Given the description of an element on the screen output the (x, y) to click on. 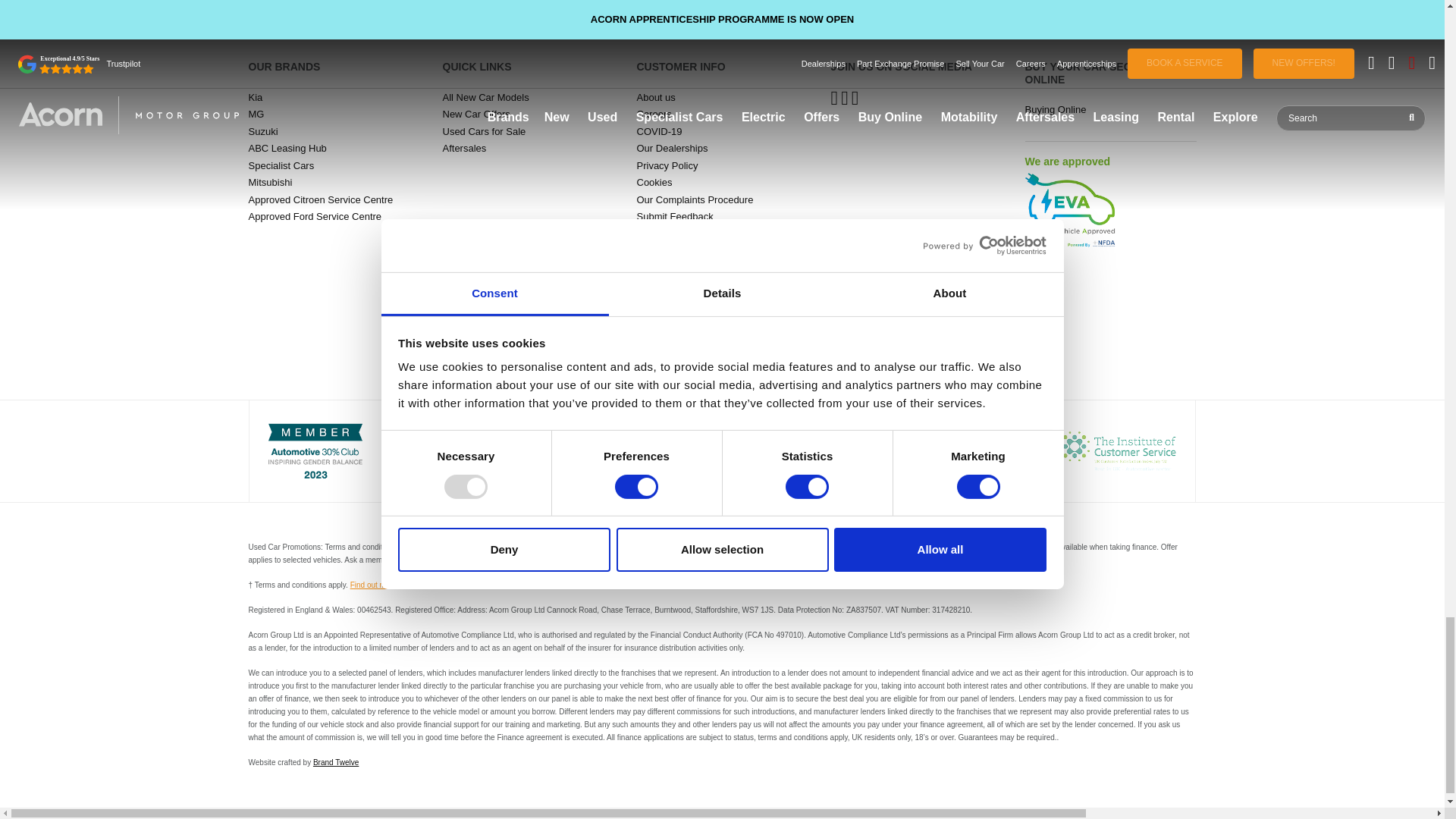
EVA Approved (1070, 209)
